Given the description of an element on the screen output the (x, y) to click on. 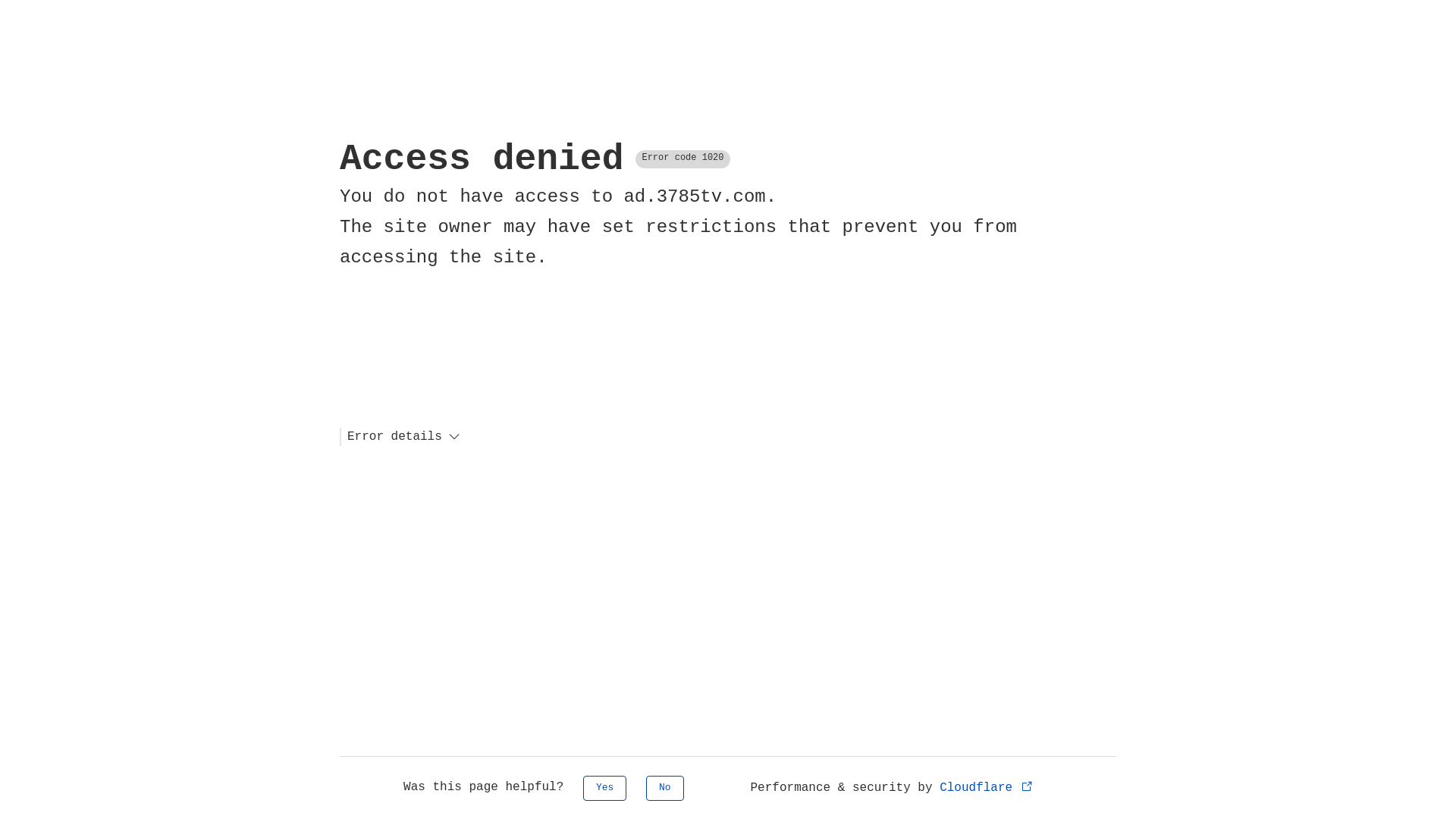
Opens in new tab Element type: hover (1027, 785)
Yes Element type: text (604, 787)
No Element type: text (665, 787)
Cloudflare Element type: text (986, 787)
